Given the description of an element on the screen output the (x, y) to click on. 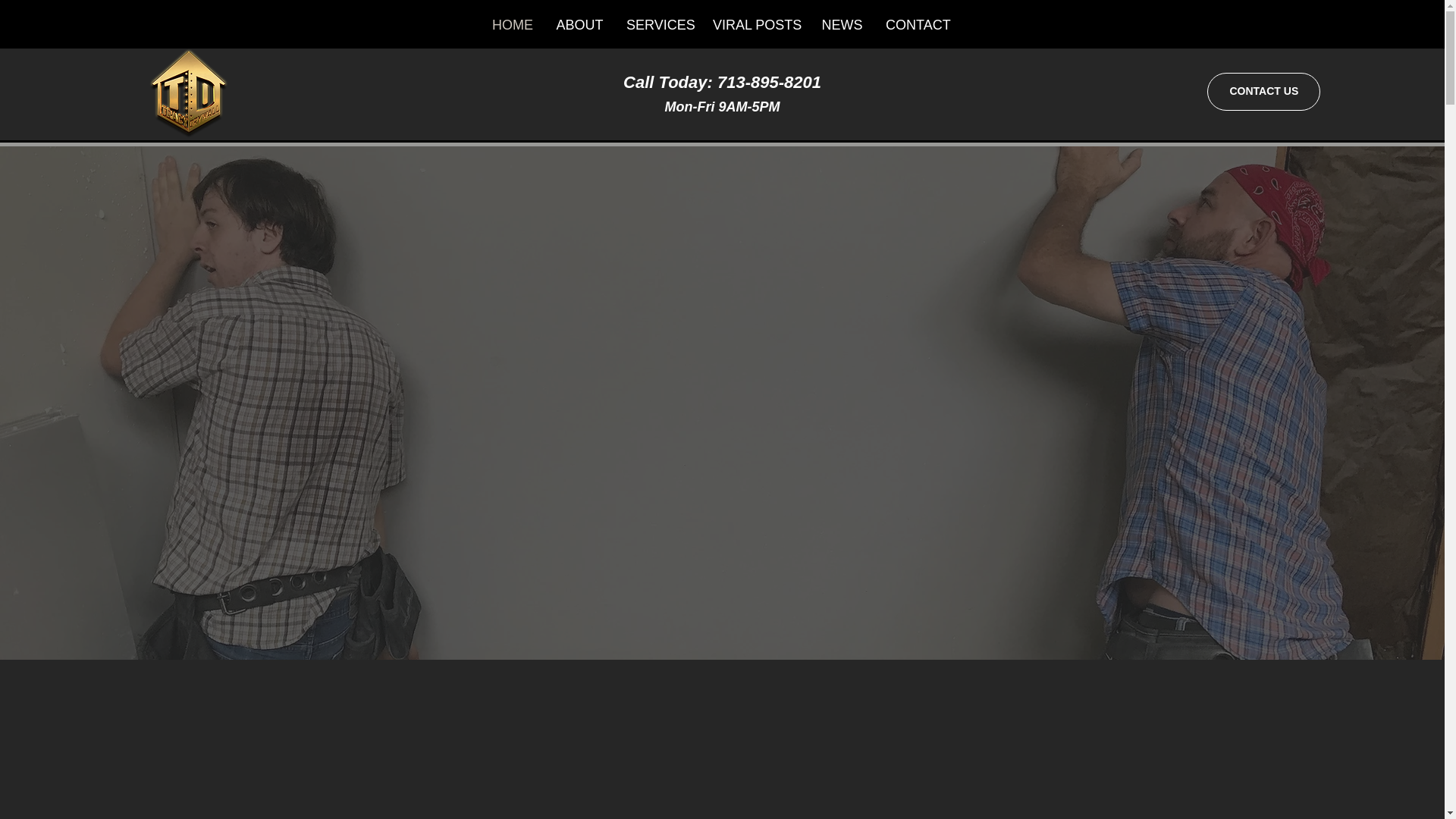
VIRAL POSTS (755, 24)
HOME (512, 24)
ABOUT (579, 24)
CONTACT (917, 24)
CONTACT US (1263, 91)
NEWS (842, 24)
SERVICES (657, 24)
